Given the description of an element on the screen output the (x, y) to click on. 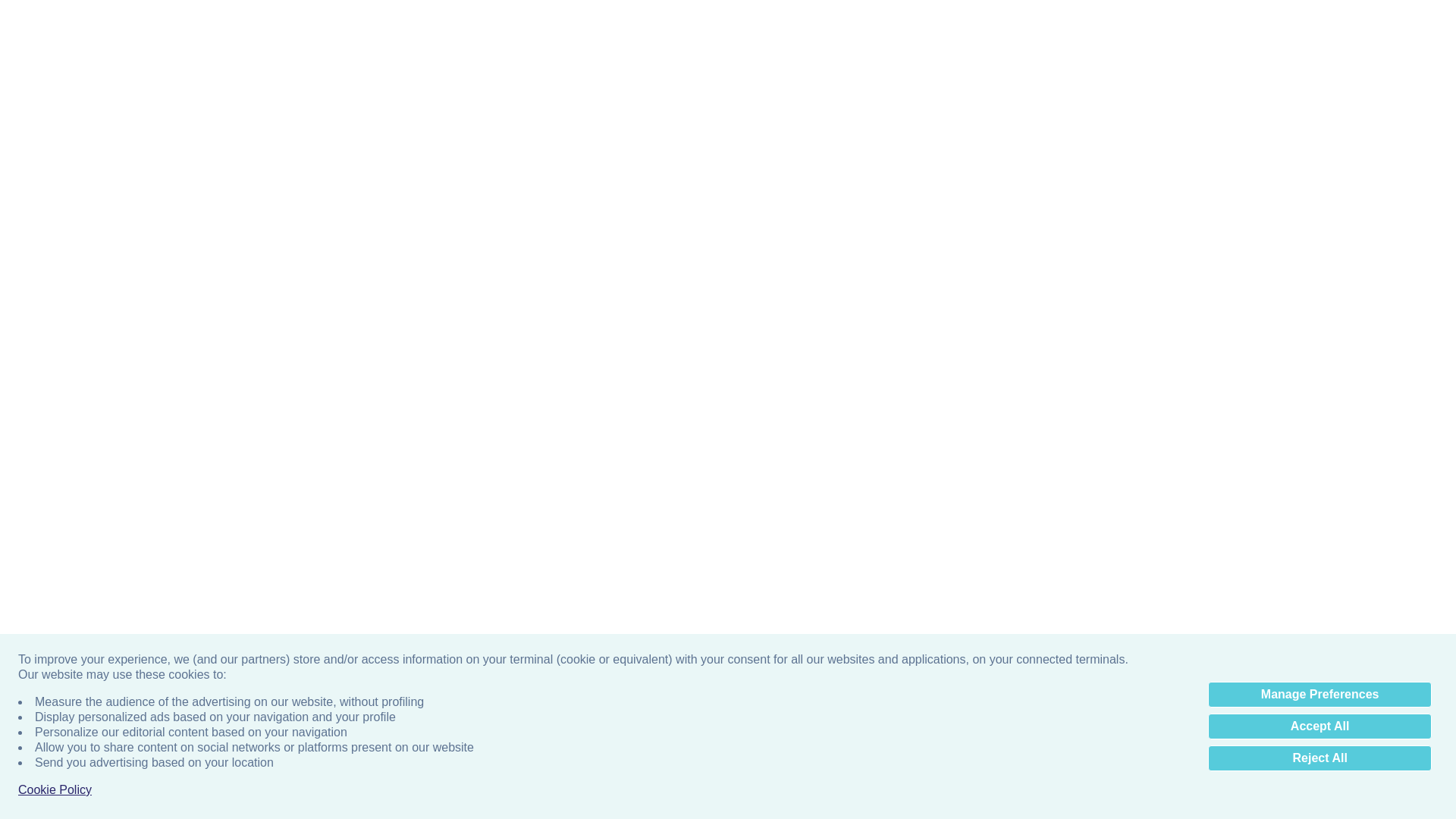
Reject All (1319, 451)
Manage Preferences (1319, 388)
Cookie Policy (54, 483)
Accept All (1319, 420)
